Given the description of an element on the screen output the (x, y) to click on. 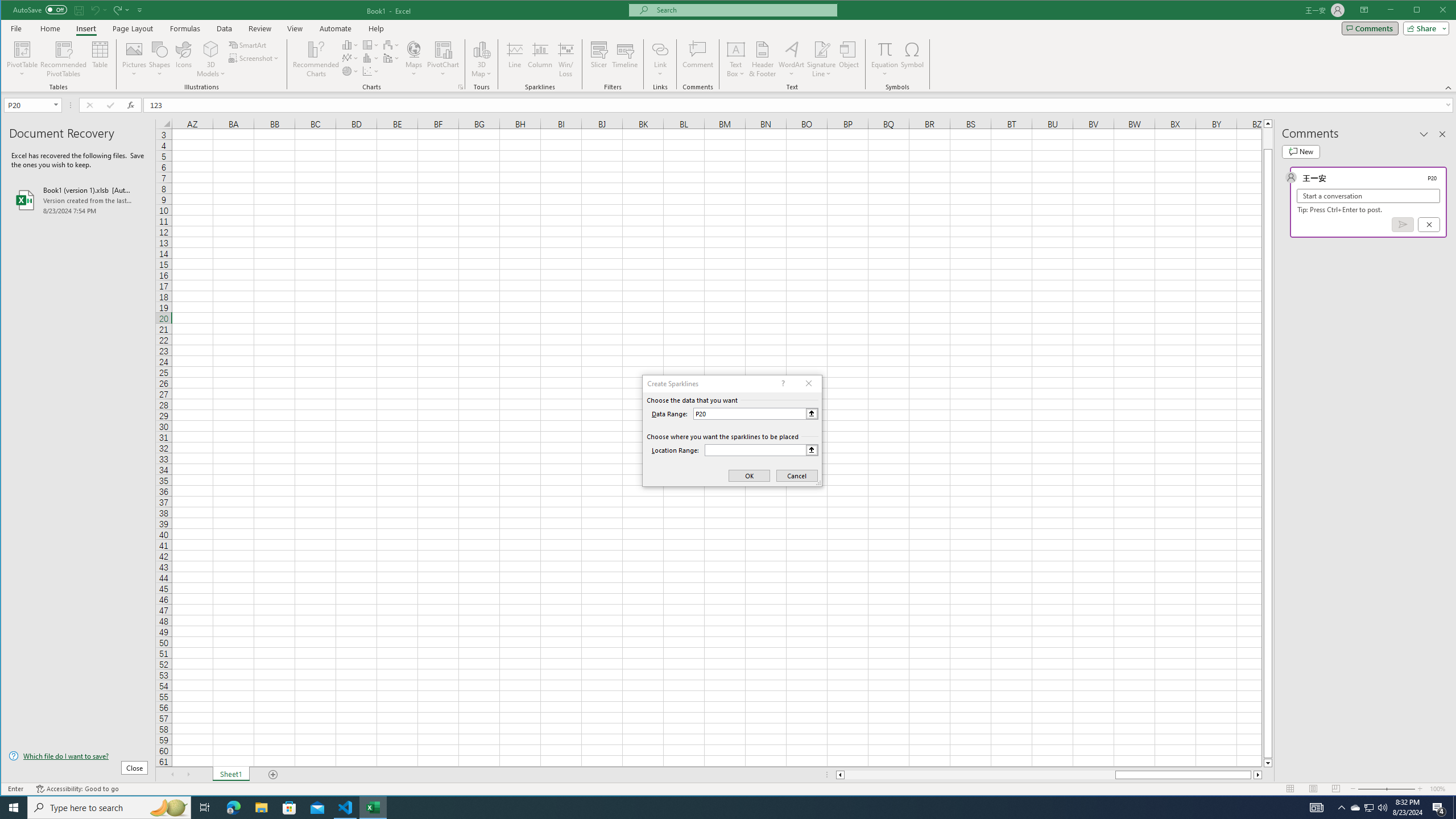
Text Box (735, 59)
Screenshot (254, 57)
New comment (1300, 151)
PivotChart (443, 48)
Win/Loss (565, 59)
3D Map (481, 48)
Draw Horizontal Text Box (735, 48)
